Given the description of an element on the screen output the (x, y) to click on. 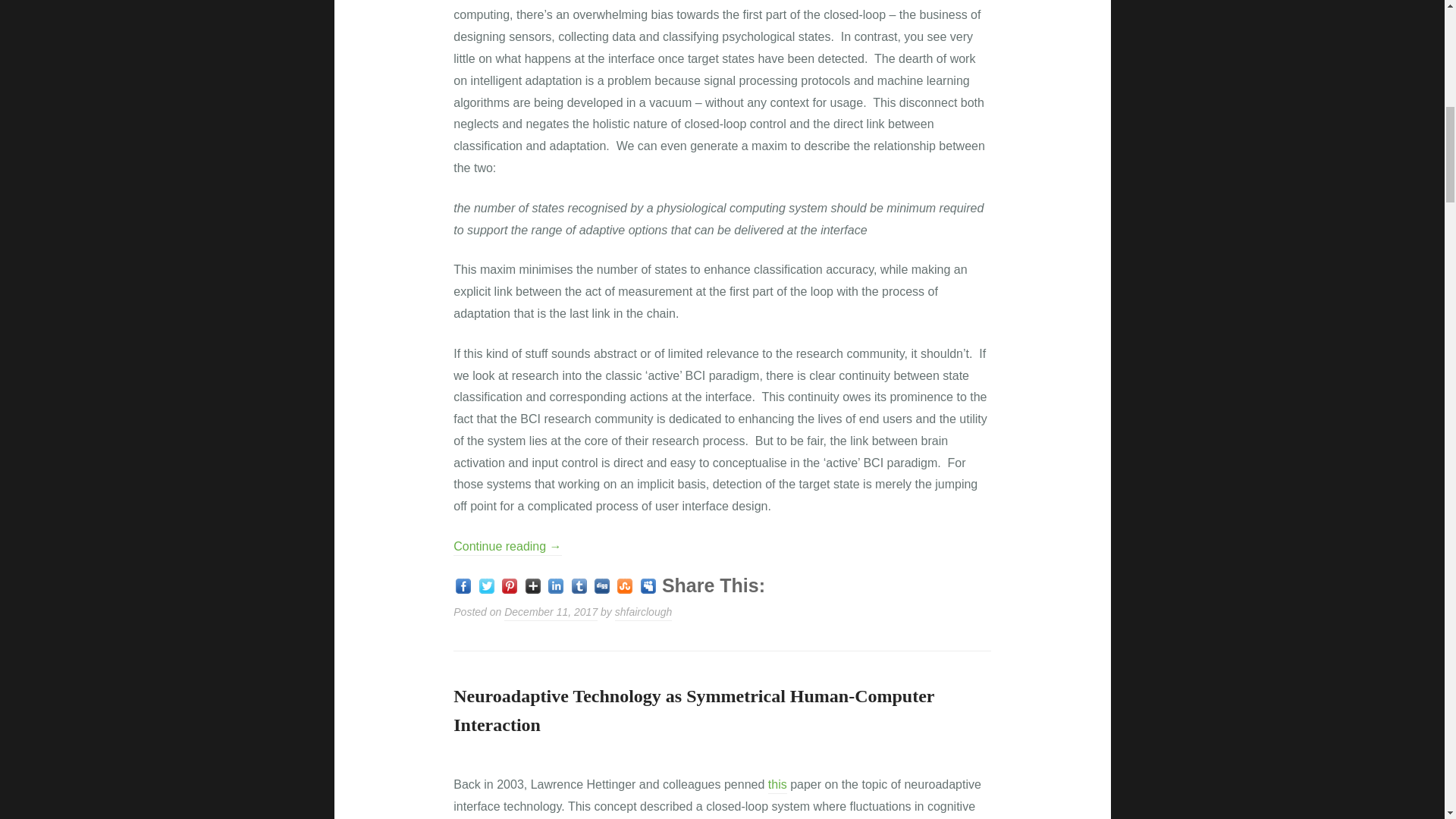
Published on: December 11, 2017 (549, 613)
shfairclough (643, 613)
December 11, 2017 (549, 613)
